Given the description of an element on the screen output the (x, y) to click on. 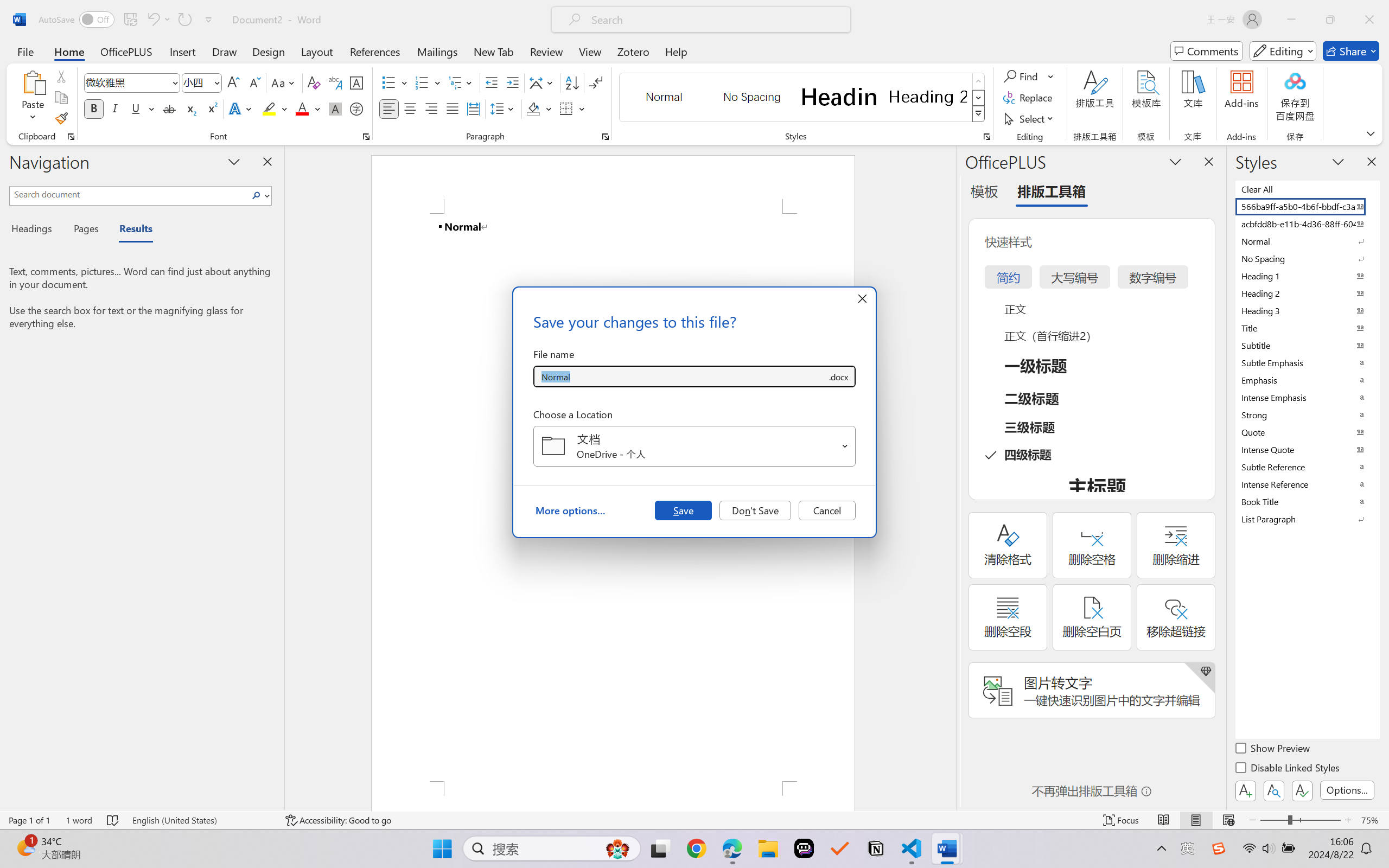
Choose a Location (694, 446)
Show Preview (1273, 749)
Character Shading (334, 108)
Line and Paragraph Spacing (503, 108)
Bold (94, 108)
Print Layout (1196, 819)
AutoSave (76, 19)
Paste (33, 97)
Focus  (1121, 819)
Paste (33, 81)
Search document (128, 193)
Title (1306, 327)
Close (1369, 19)
